Given the description of an element on the screen output the (x, y) to click on. 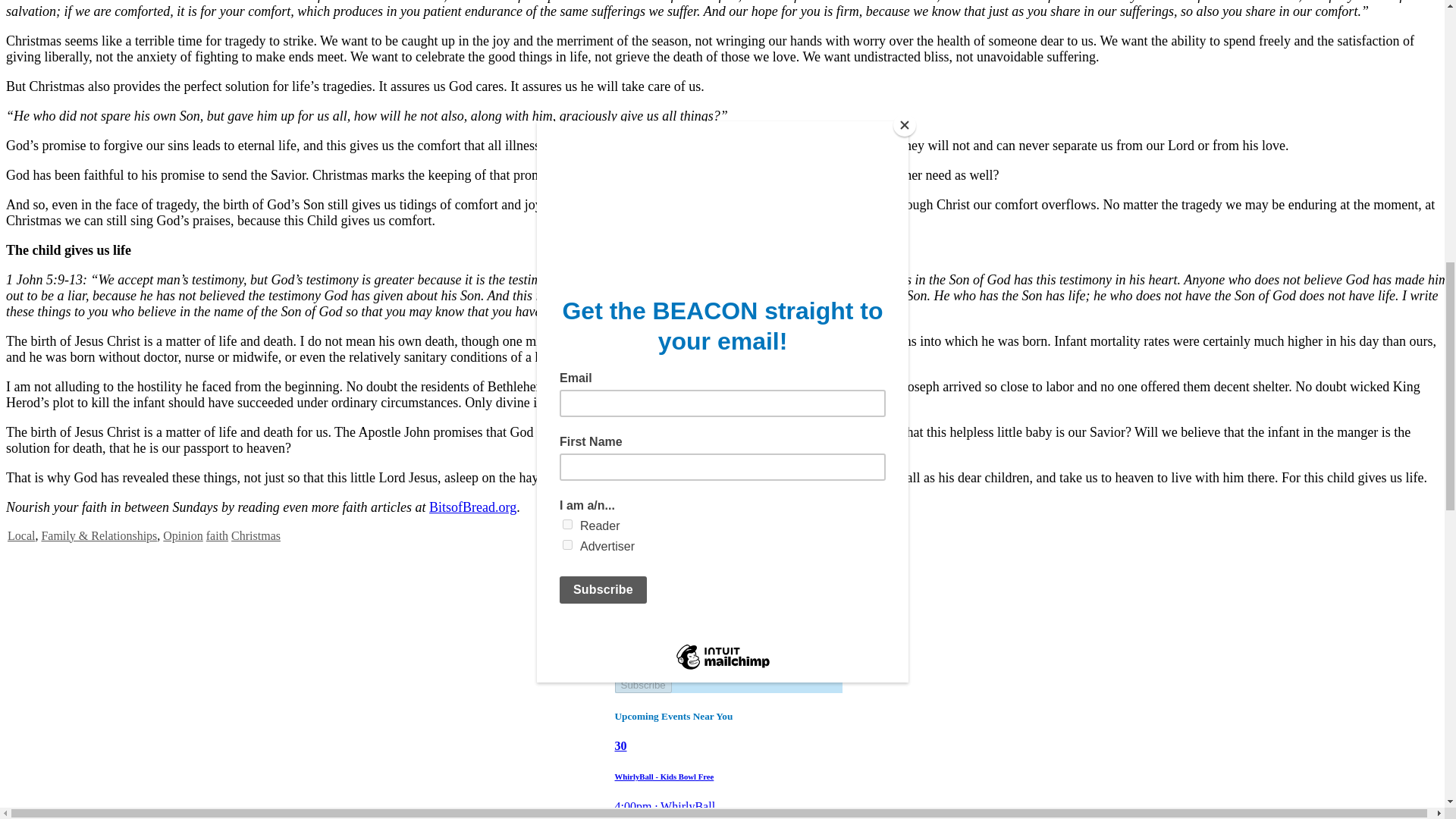
Subscribe (642, 684)
2 (652, 659)
1 (652, 644)
